Given the description of an element on the screen output the (x, y) to click on. 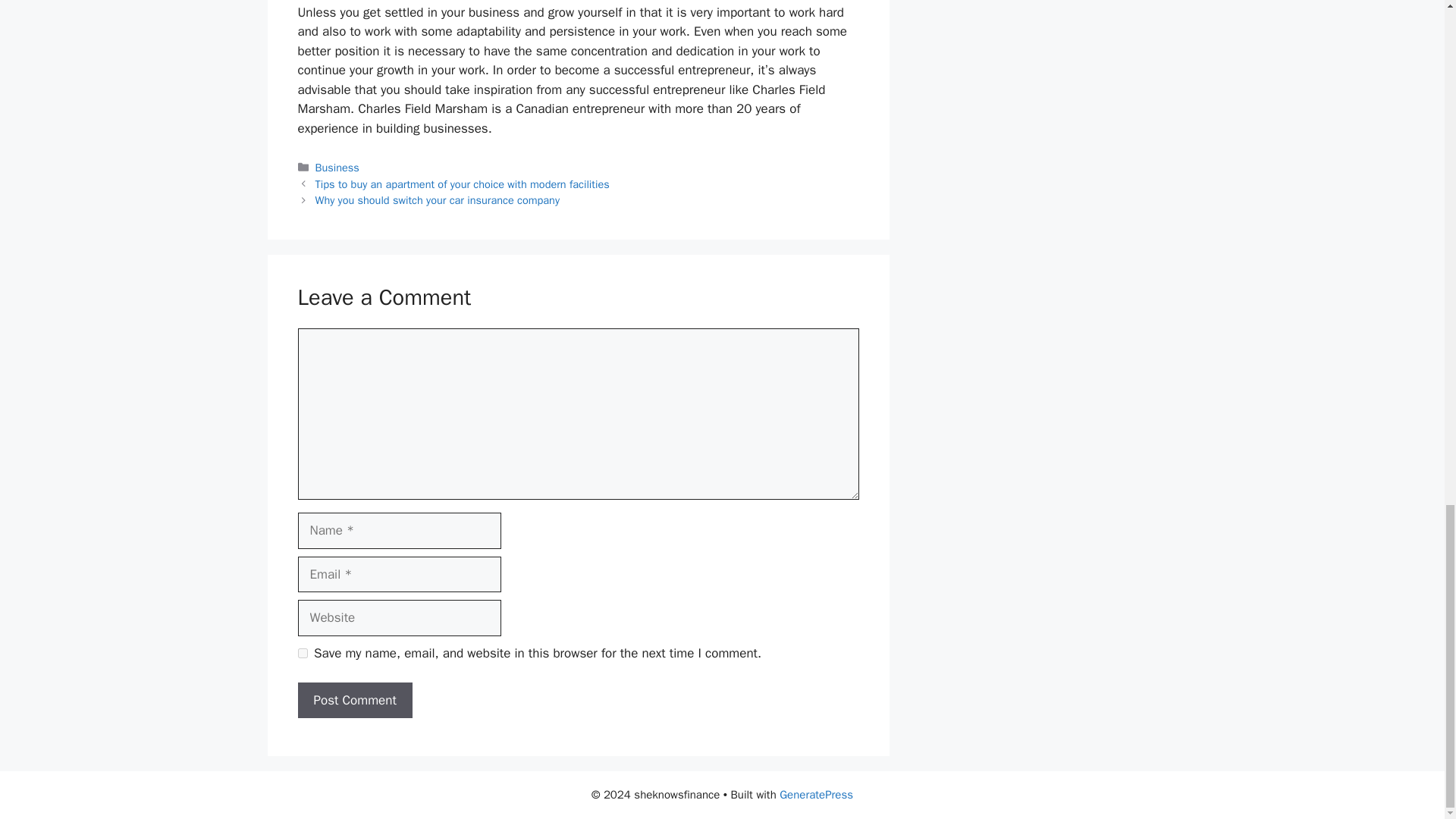
GeneratePress (815, 794)
Business (337, 167)
yes (302, 653)
Post Comment (354, 700)
Why you should switch your car insurance company (437, 200)
Post Comment (354, 700)
